Given the description of an element on the screen output the (x, y) to click on. 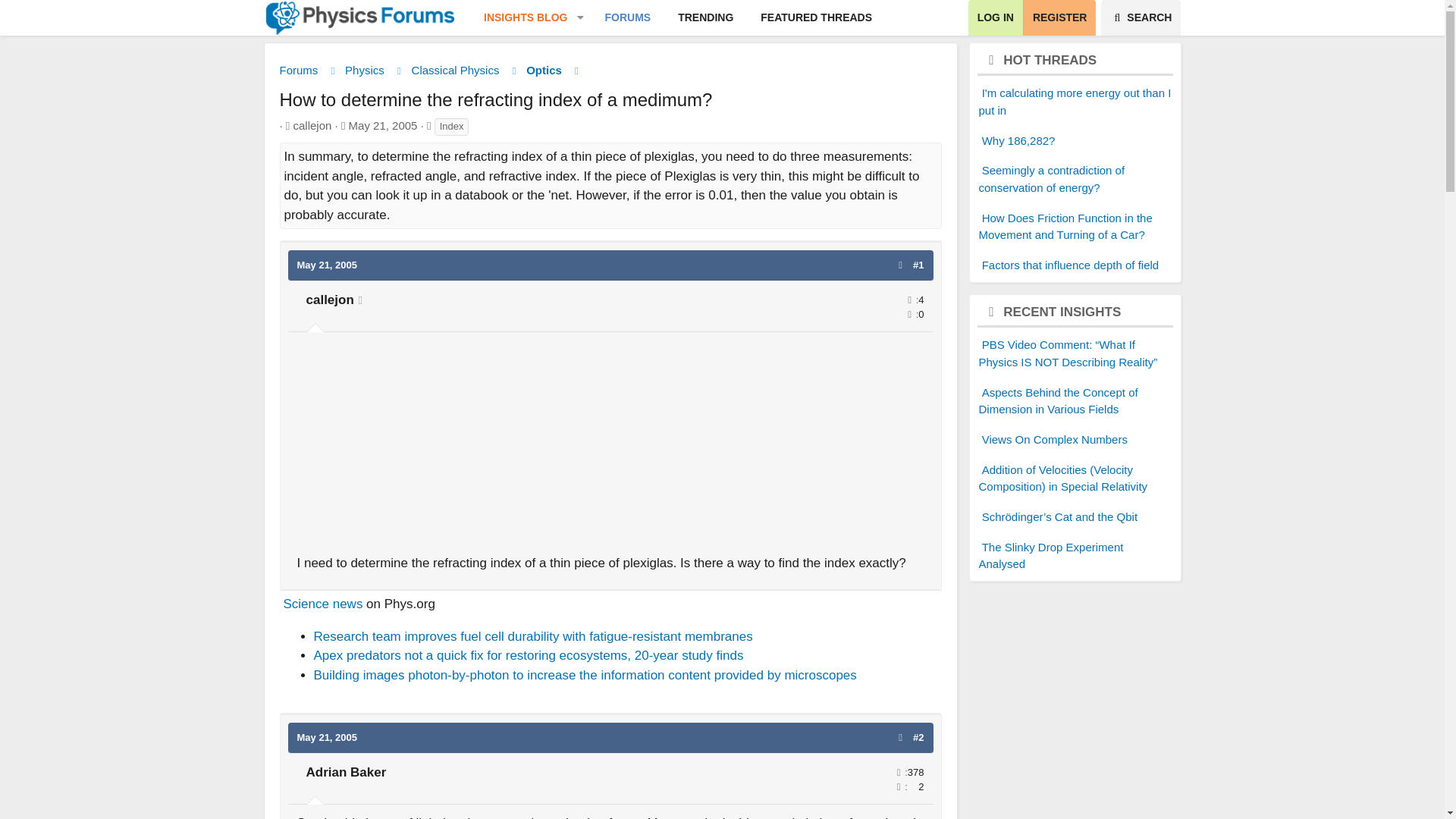
SEARCH (1140, 18)
May 21, 2005 at 3:03 PM (327, 737)
Search (1140, 18)
Reaction score (908, 314)
Classical Physics (455, 70)
Messages (898, 772)
Physics (364, 70)
Optics (543, 70)
Science news (322, 603)
REGISTER (1059, 18)
May 21, 2005 at 2:35 PM (327, 265)
Forums (298, 70)
FORUMS (628, 18)
INSIGHTS BLOG (519, 18)
